Given the description of an element on the screen output the (x, y) to click on. 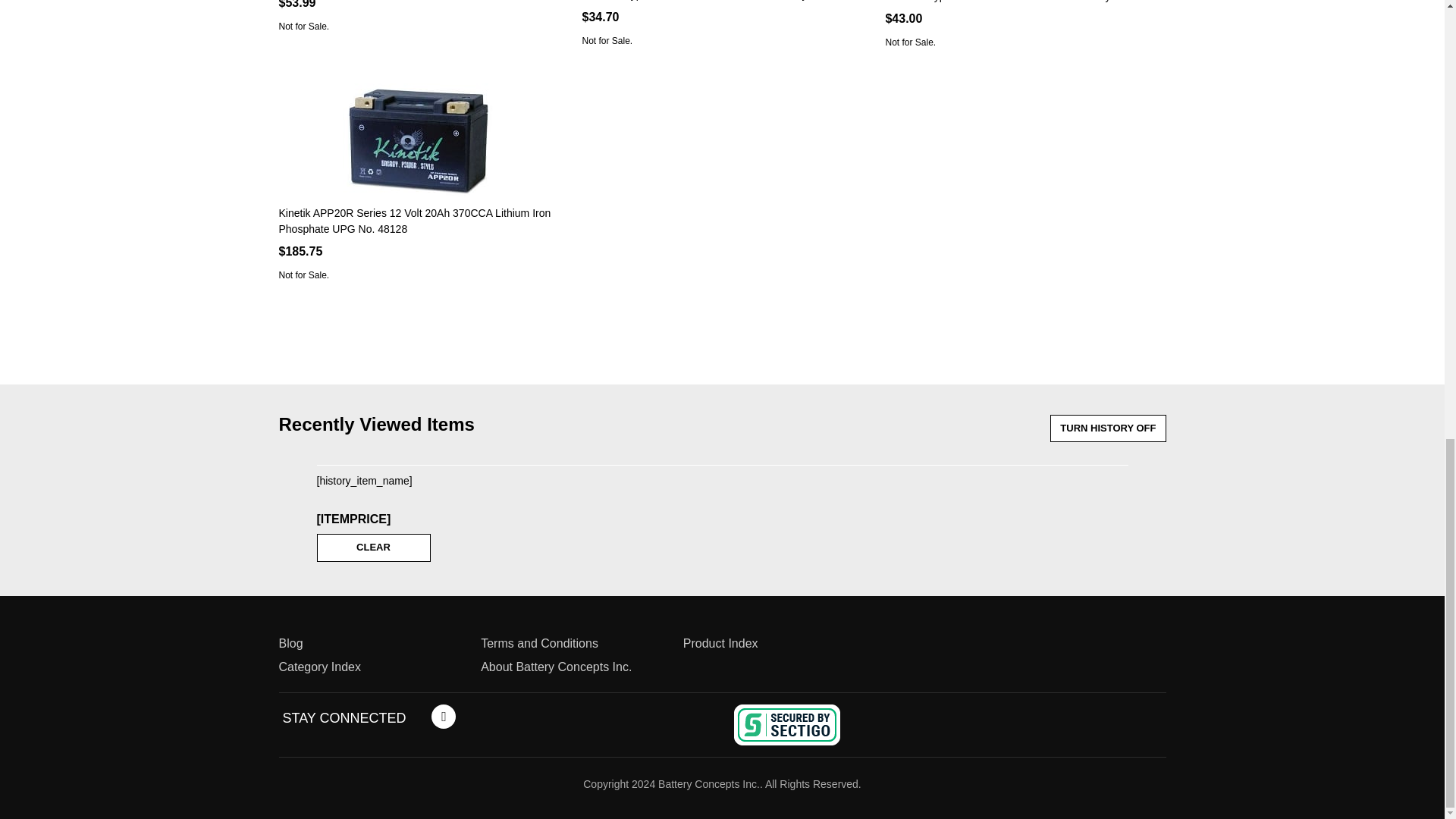
Like Us on Facebook (442, 716)
